Given the description of an element on the screen output the (x, y) to click on. 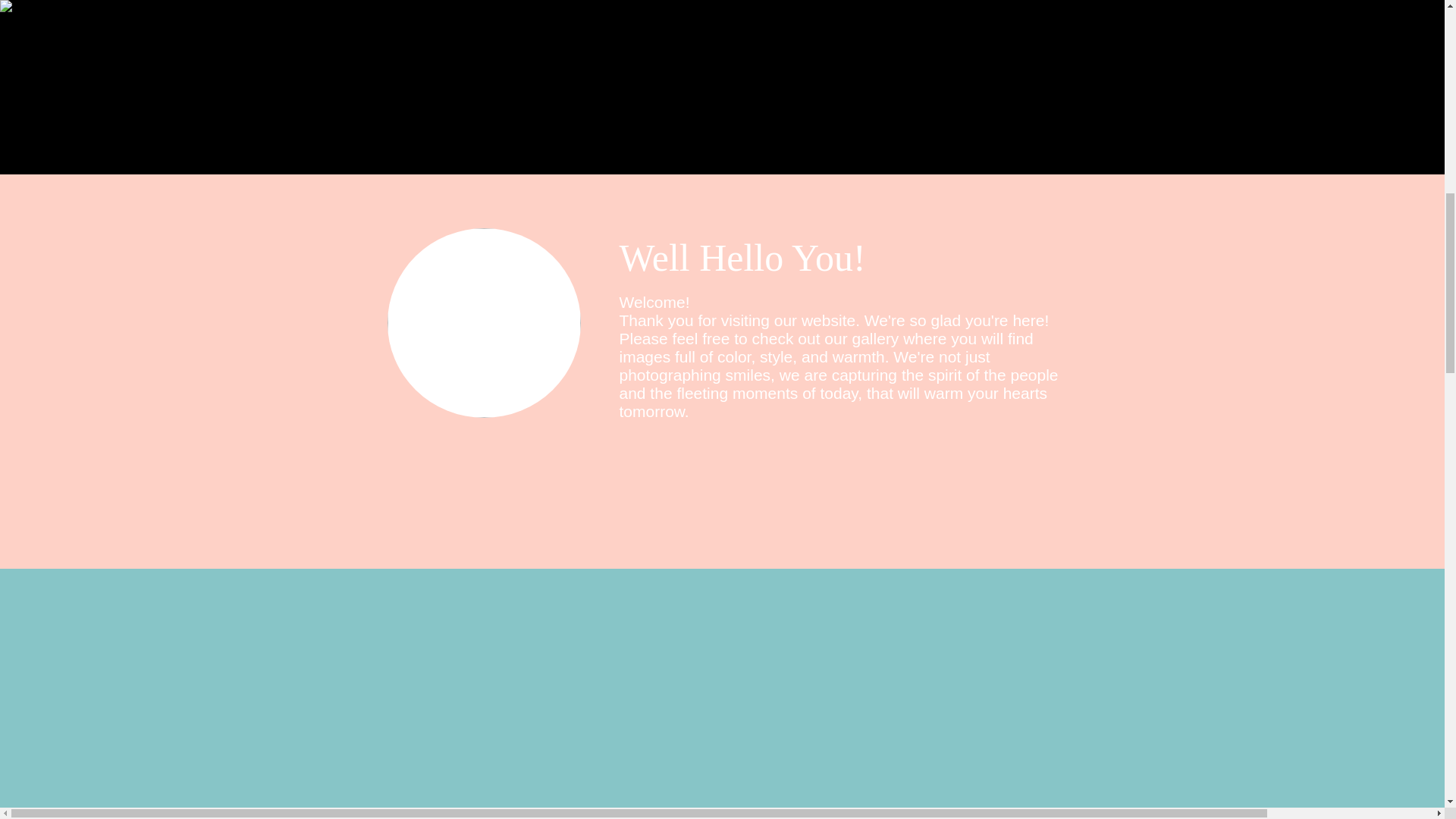
jen8.jpg (483, 322)
